Given the description of an element on the screen output the (x, y) to click on. 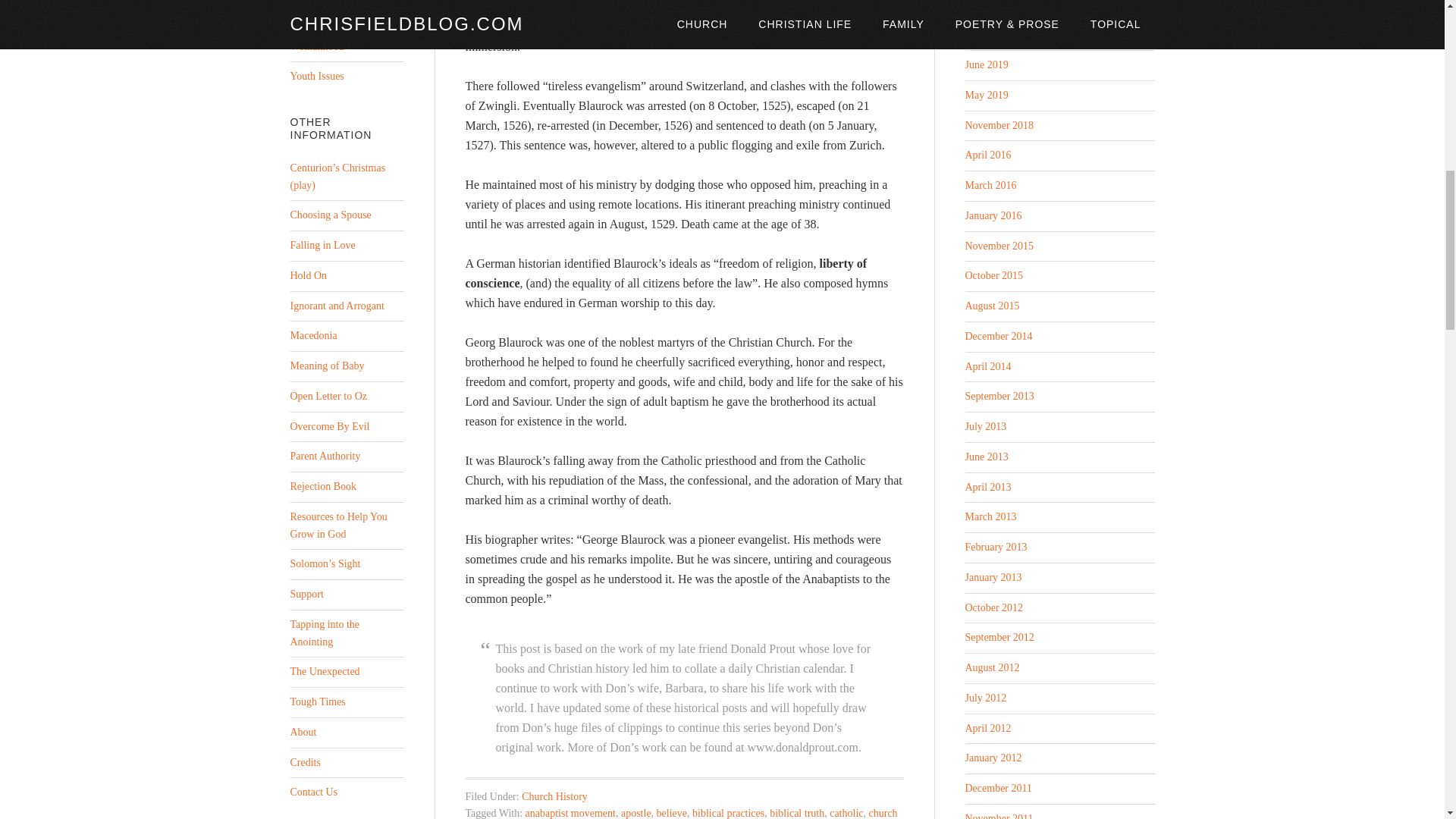
anabaptist movement (570, 813)
biblical truth (797, 813)
biblical practices (728, 813)
believe (671, 813)
catholic (846, 813)
Church History (554, 795)
church tradition (681, 813)
apostle (635, 813)
Posts which are basically topical. (305, 16)
